Given the description of an element on the screen output the (x, y) to click on. 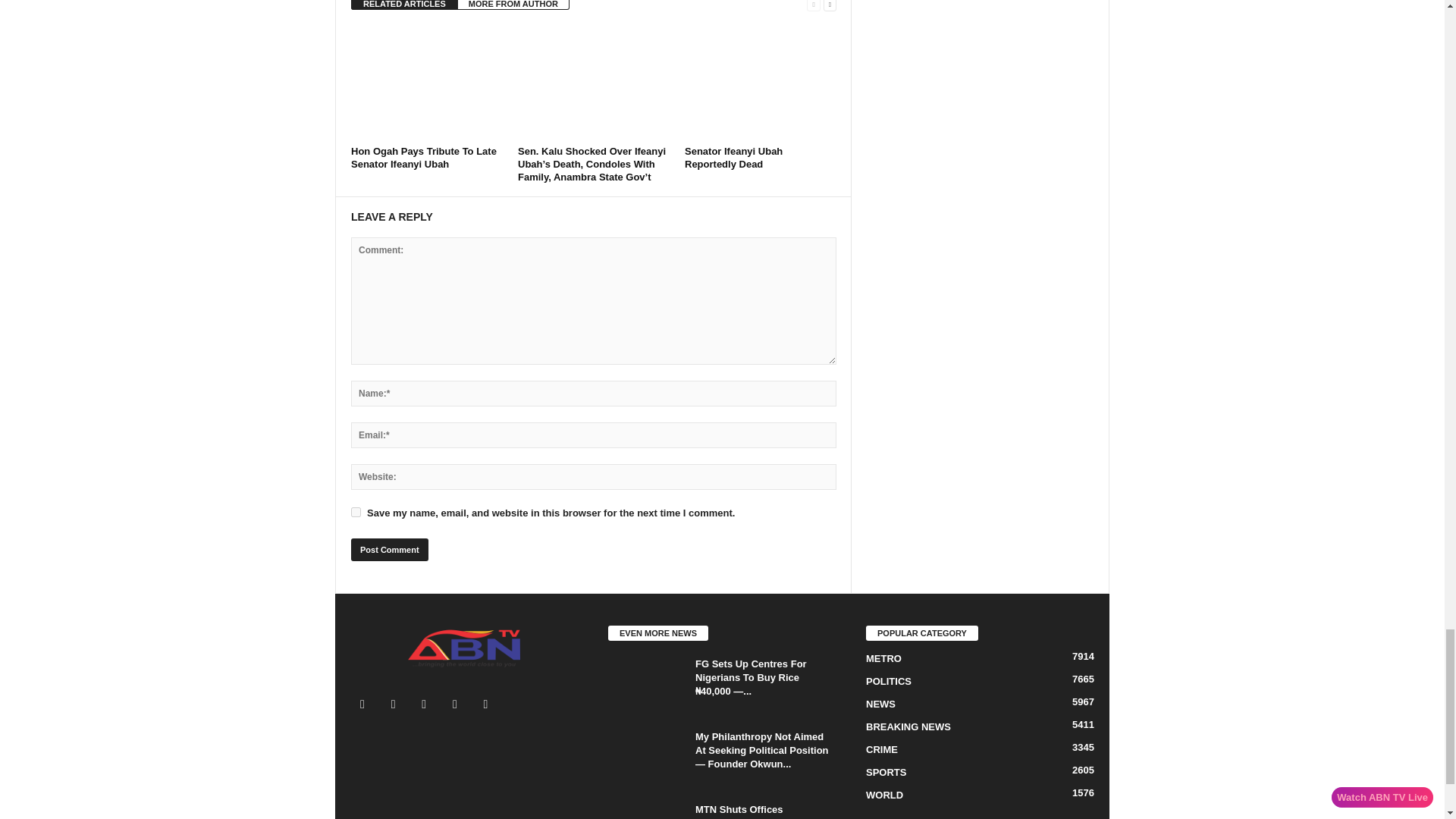
Post Comment (389, 549)
yes (355, 511)
